Given the description of an element on the screen output the (x, y) to click on. 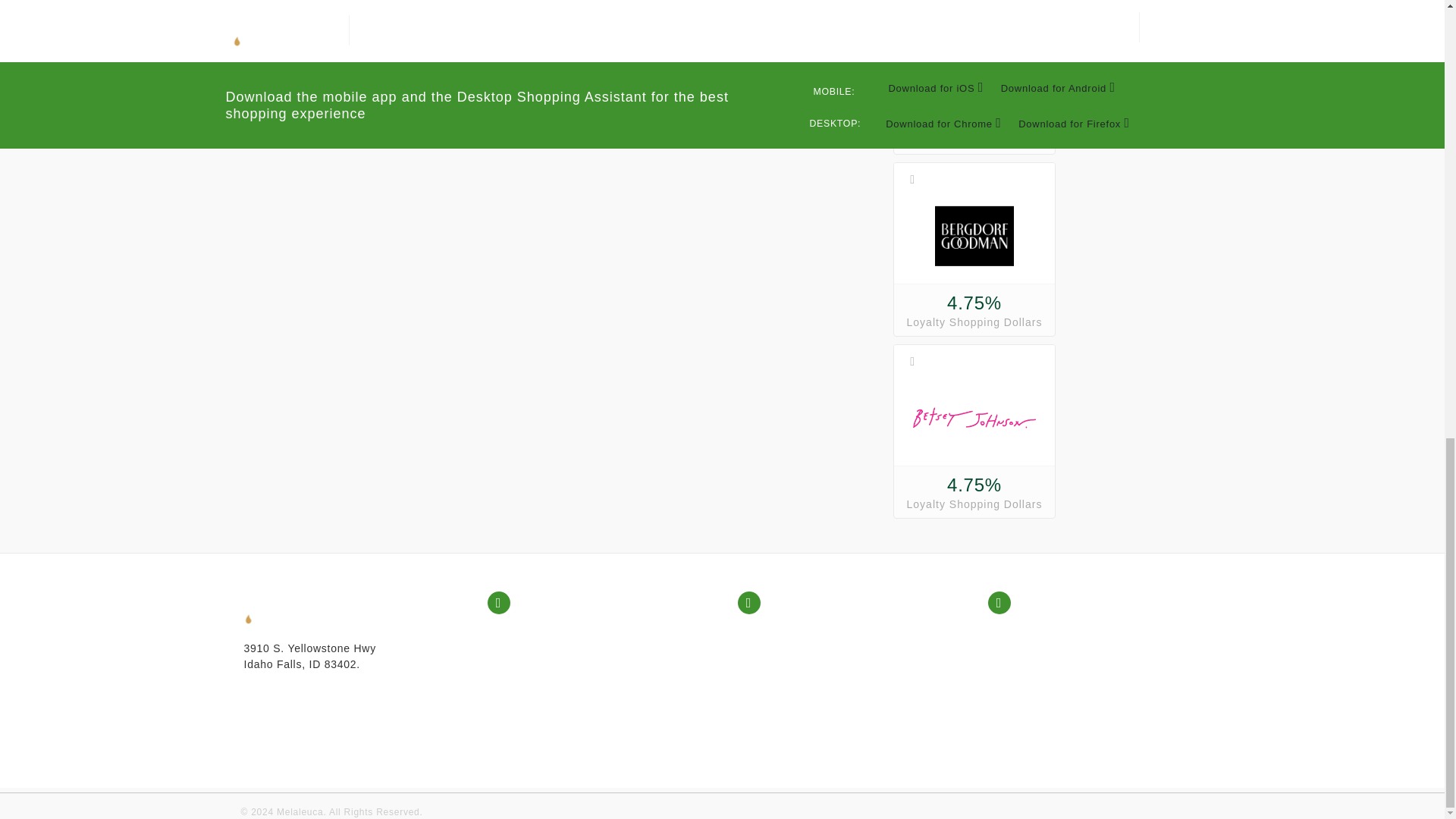
Browser Extension (1053, 651)
Privacy Policy (791, 651)
Marketplace (536, 670)
Terms of Use (788, 670)
Product Store (540, 632)
Learn to Earn (540, 689)
Business Center (547, 651)
Mobile Apps (1036, 632)
Help (766, 632)
About Melaleuca (548, 707)
